Given the description of an element on the screen output the (x, y) to click on. 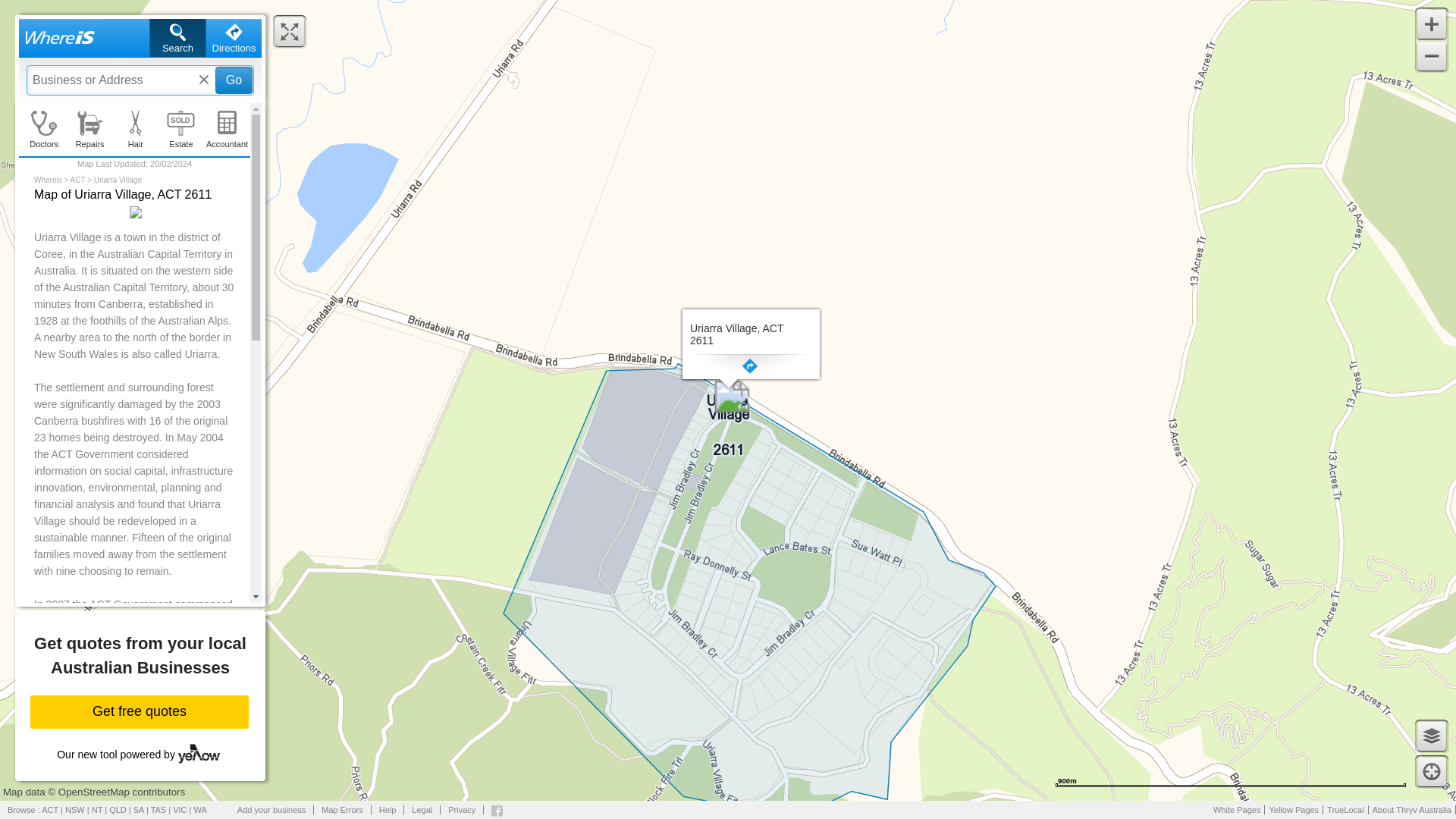
ACT (77, 180)
Go (233, 80)
Whereis (139, 59)
